Given the description of an element on the screen output the (x, y) to click on. 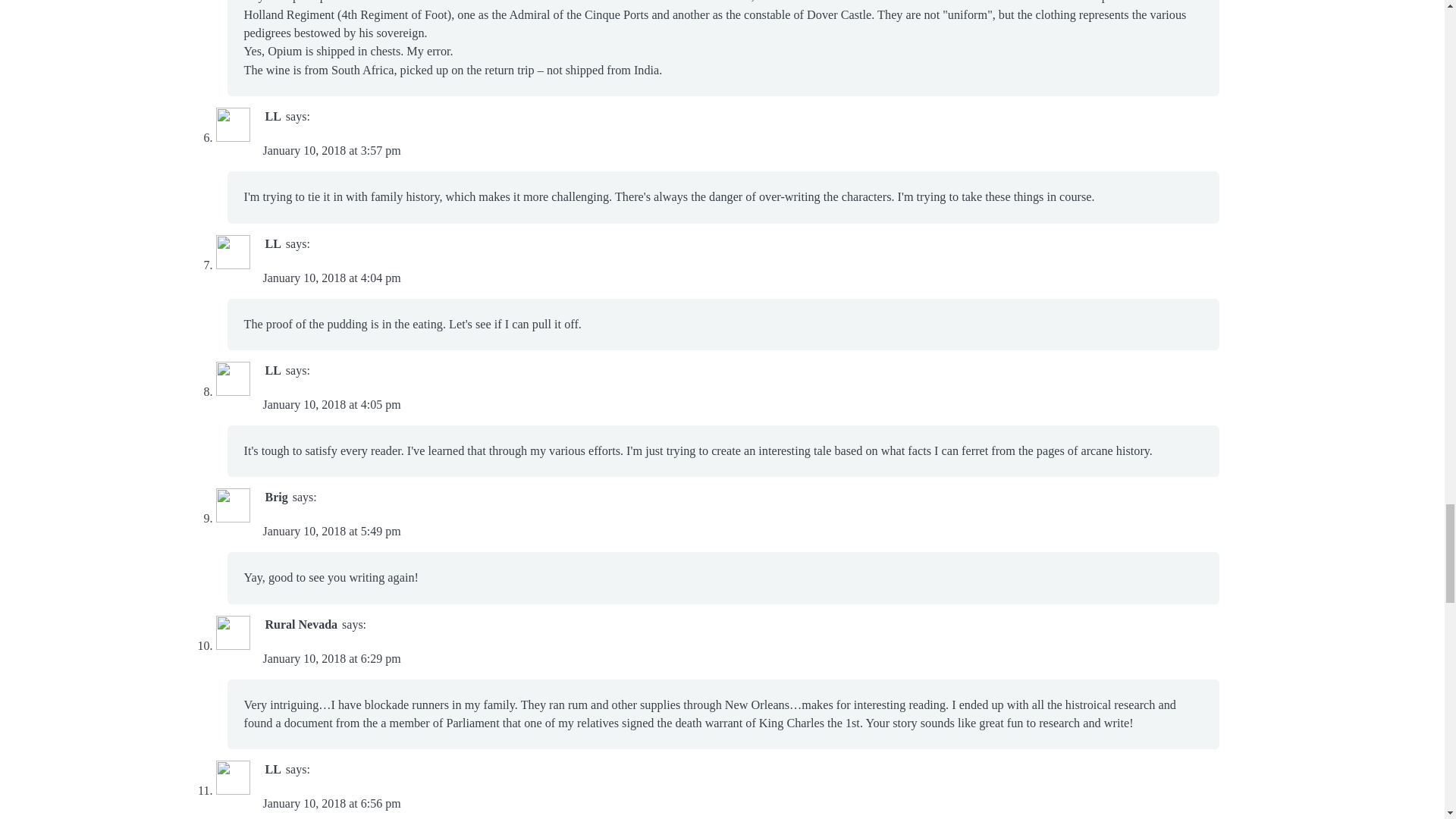
January 10, 2018 at 3:57 pm (331, 150)
January 10, 2018 at 6:56 pm (331, 802)
January 10, 2018 at 4:05 pm (331, 404)
January 10, 2018 at 6:29 pm (331, 658)
January 10, 2018 at 4:04 pm (331, 277)
January 10, 2018 at 5:49 pm (331, 530)
